Given the description of an element on the screen output the (x, y) to click on. 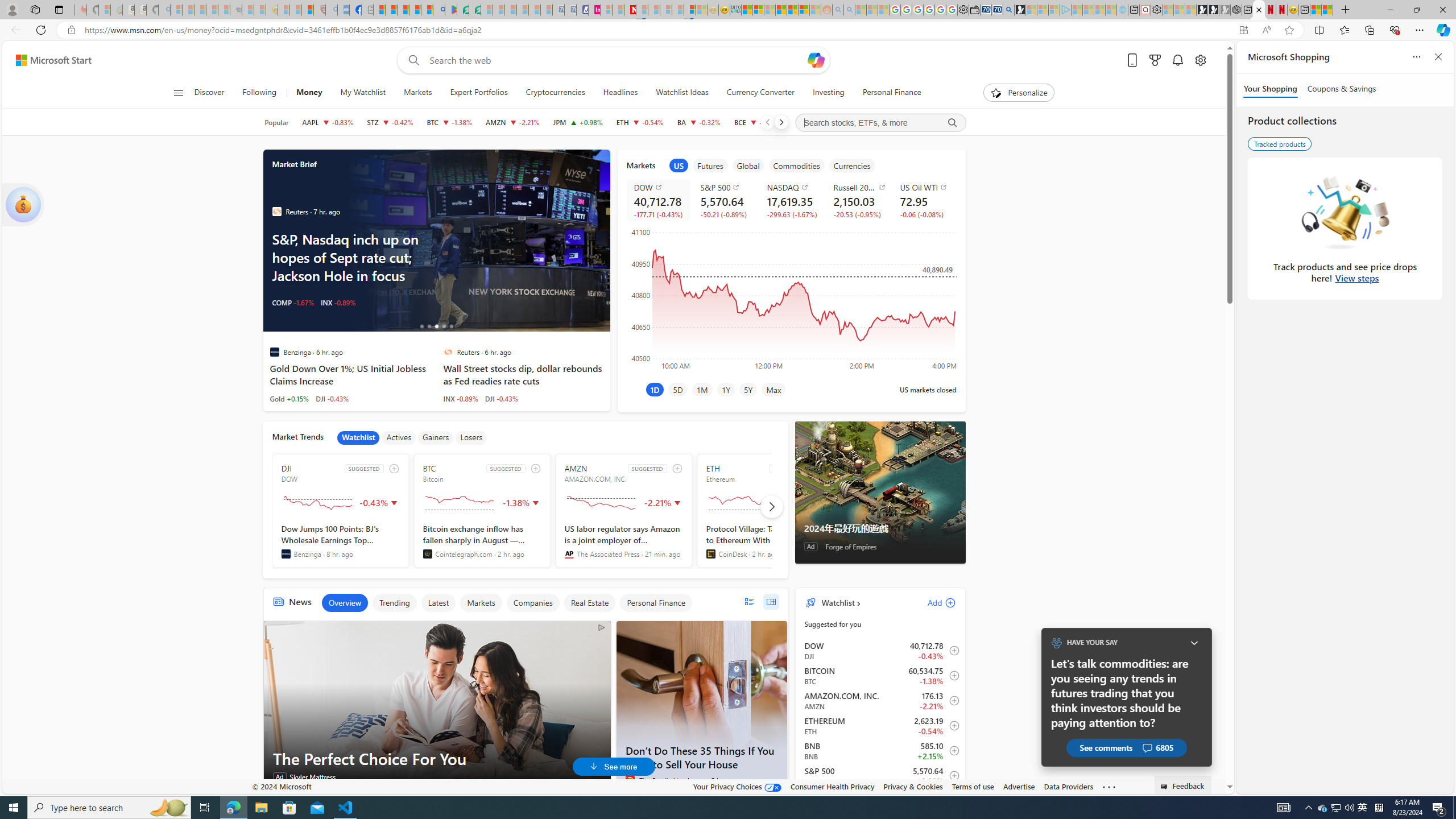
BA THE BOEING COMPANY decrease 172.87 -0.56 -0.32% (698, 122)
Trending (393, 602)
Expert Portfolios (478, 92)
Traders work on the floor of the NYSE in New York (476, 240)
google - Search (438, 9)
Consumer Health Privacy (832, 786)
Jobs - lastminute.com Investor Portal (594, 9)
Cryptocurrencies (555, 92)
ETH SUGGESTED Ethereum (765, 510)
My Watchlist (362, 92)
